Given the description of an element on the screen output the (x, y) to click on. 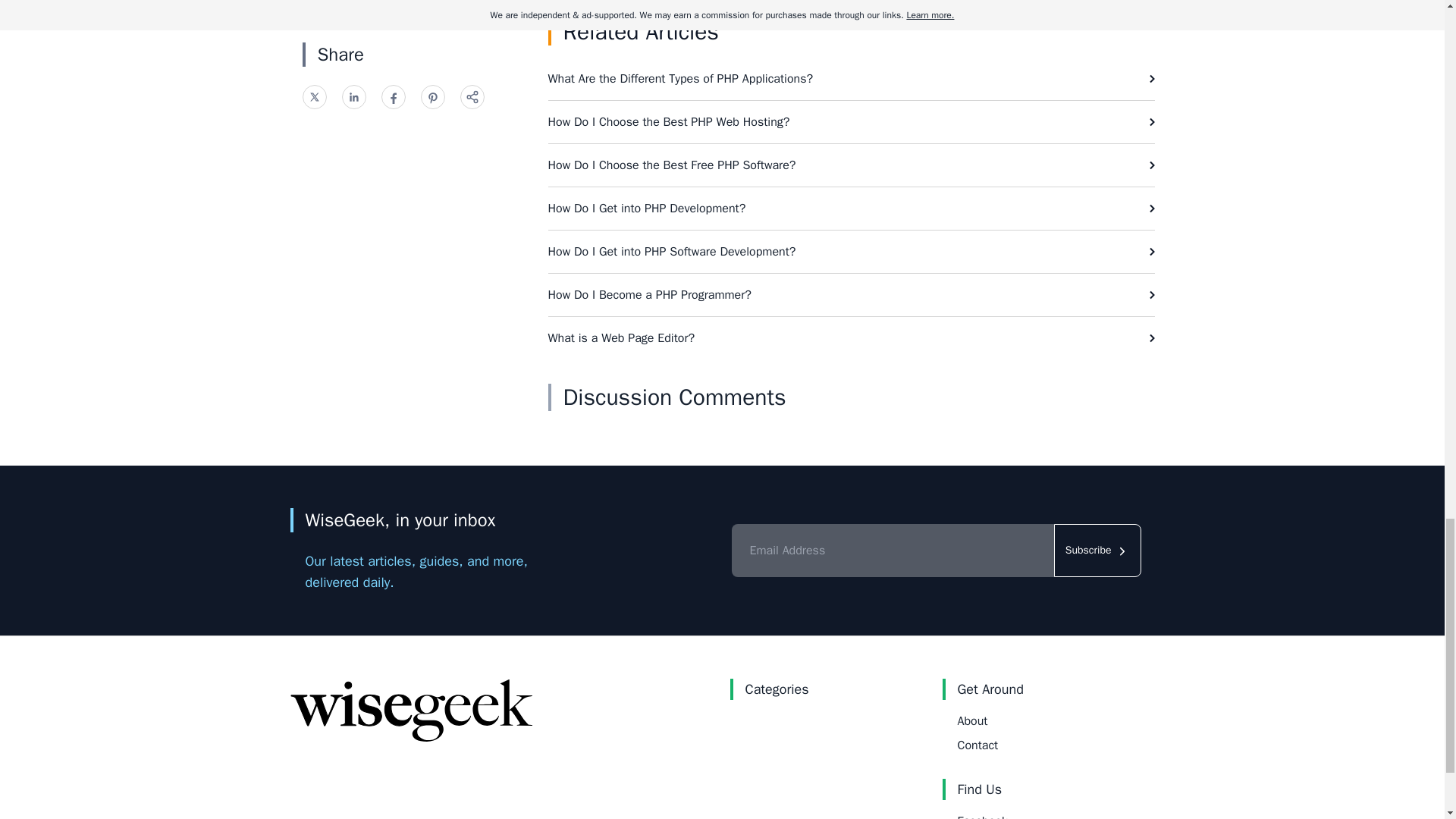
How Do I Choose the Best PHP Web Hosting? (850, 121)
What Are the Different Types of PHP Applications? (850, 78)
What is a Web Page Editor? (850, 337)
How Do I Get into PHP Software Development? (850, 251)
How Do I Become a PHP Programmer? (850, 294)
How Do I Get into PHP Development? (850, 208)
How Do I Choose the Best Free PHP Software? (850, 165)
